Given the description of an element on the screen output the (x, y) to click on. 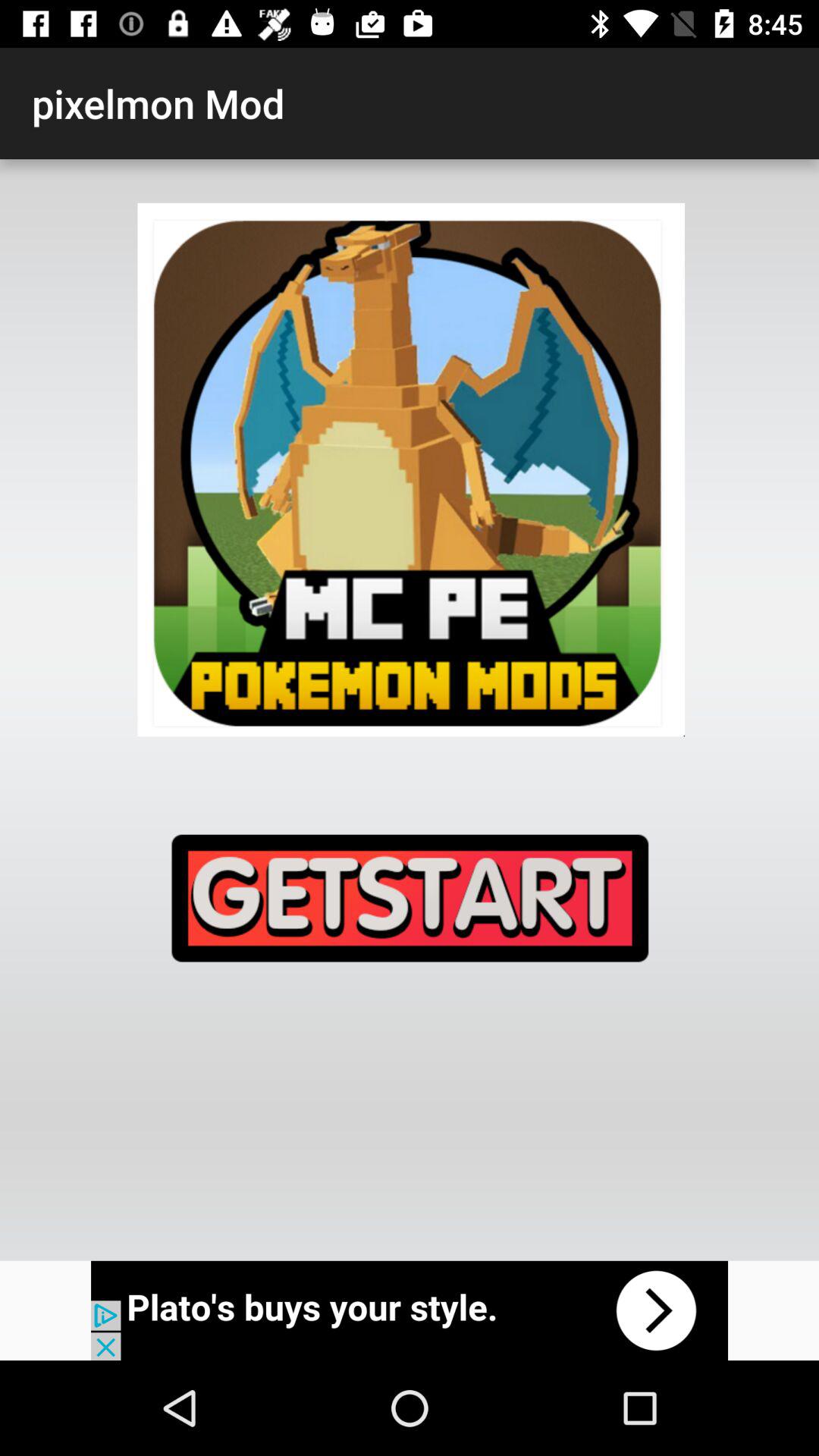
go to advertisement (409, 1310)
